Given the description of an element on the screen output the (x, y) to click on. 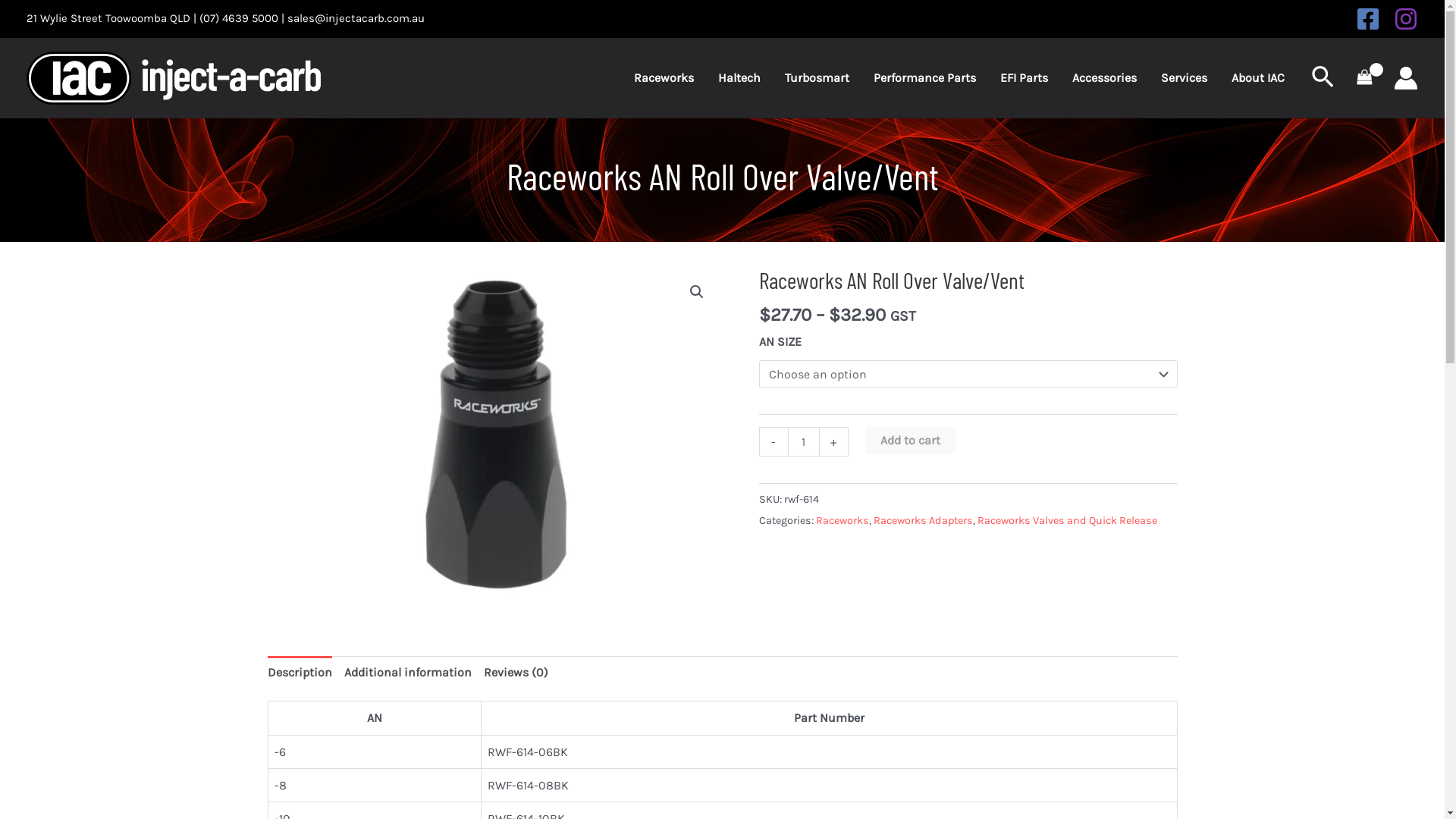
Raceworks Valves and Quick Release Element type: text (1066, 520)
Services Element type: text (1183, 78)
Turbosmart Element type: text (816, 78)
Description Element type: text (298, 671)
Raceworks Element type: text (842, 520)
Search Element type: text (1323, 78)
Raceworks Adapters Element type: text (922, 520)
Additional information Element type: text (407, 671)
EFI Parts Element type: text (1024, 78)
adapters-valves-an-roll-over-valve-vent-RWF-614-08BK.jpg Element type: hover (493, 436)
About IAC Element type: text (1257, 78)
Performance Parts Element type: text (924, 78)
Raceworks Element type: text (663, 78)
- Element type: text (772, 441)
Accessories Element type: text (1104, 78)
Add to cart Element type: text (910, 440)
+ Element type: text (833, 441)
Haltech Element type: text (739, 78)
Reviews (0) Element type: text (515, 671)
